Given the description of an element on the screen output the (x, y) to click on. 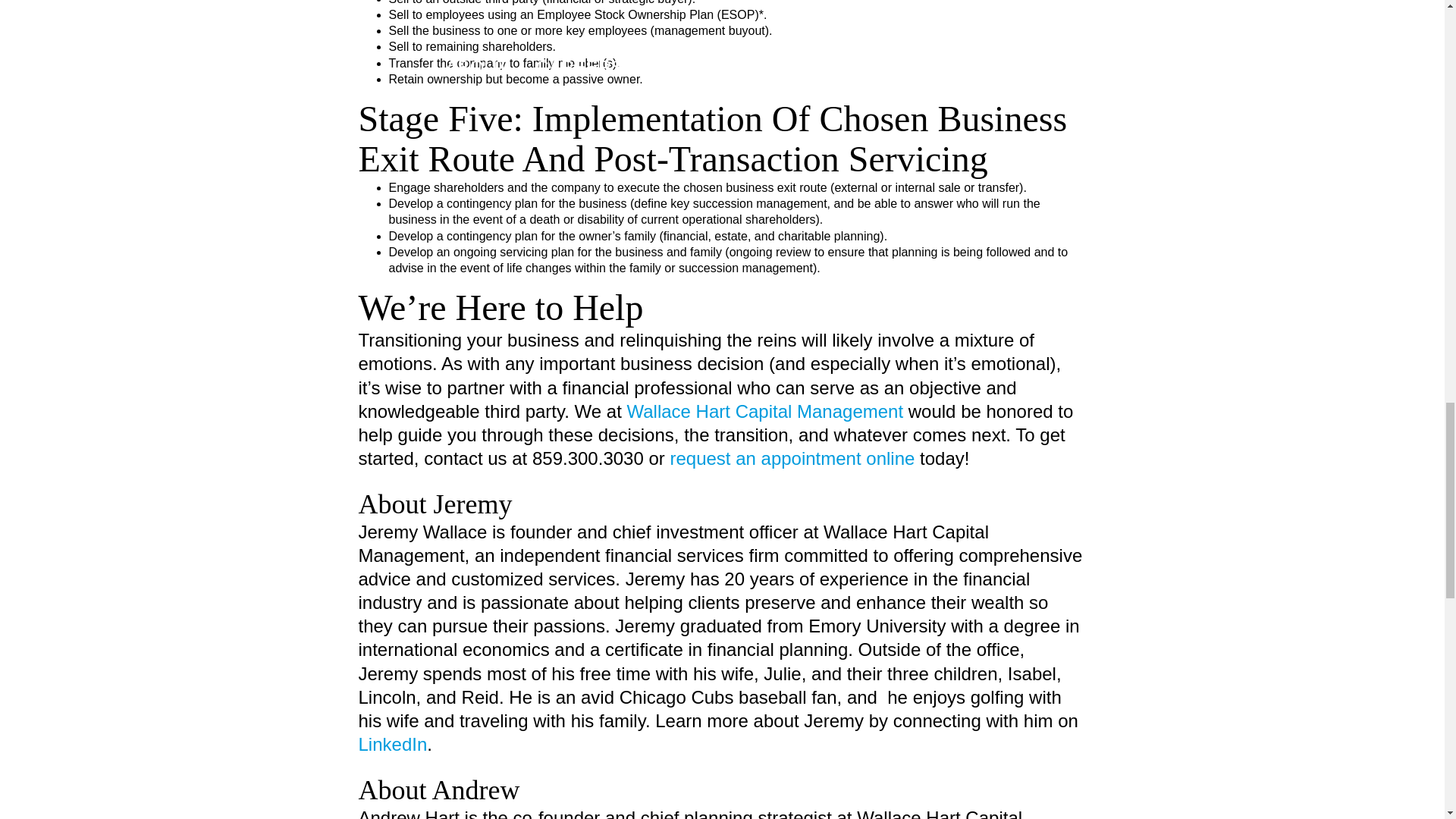
request an appointment online (791, 457)
LinkedIn (392, 743)
Wallace Hart Capital Management (764, 411)
